Given the description of an element on the screen output the (x, y) to click on. 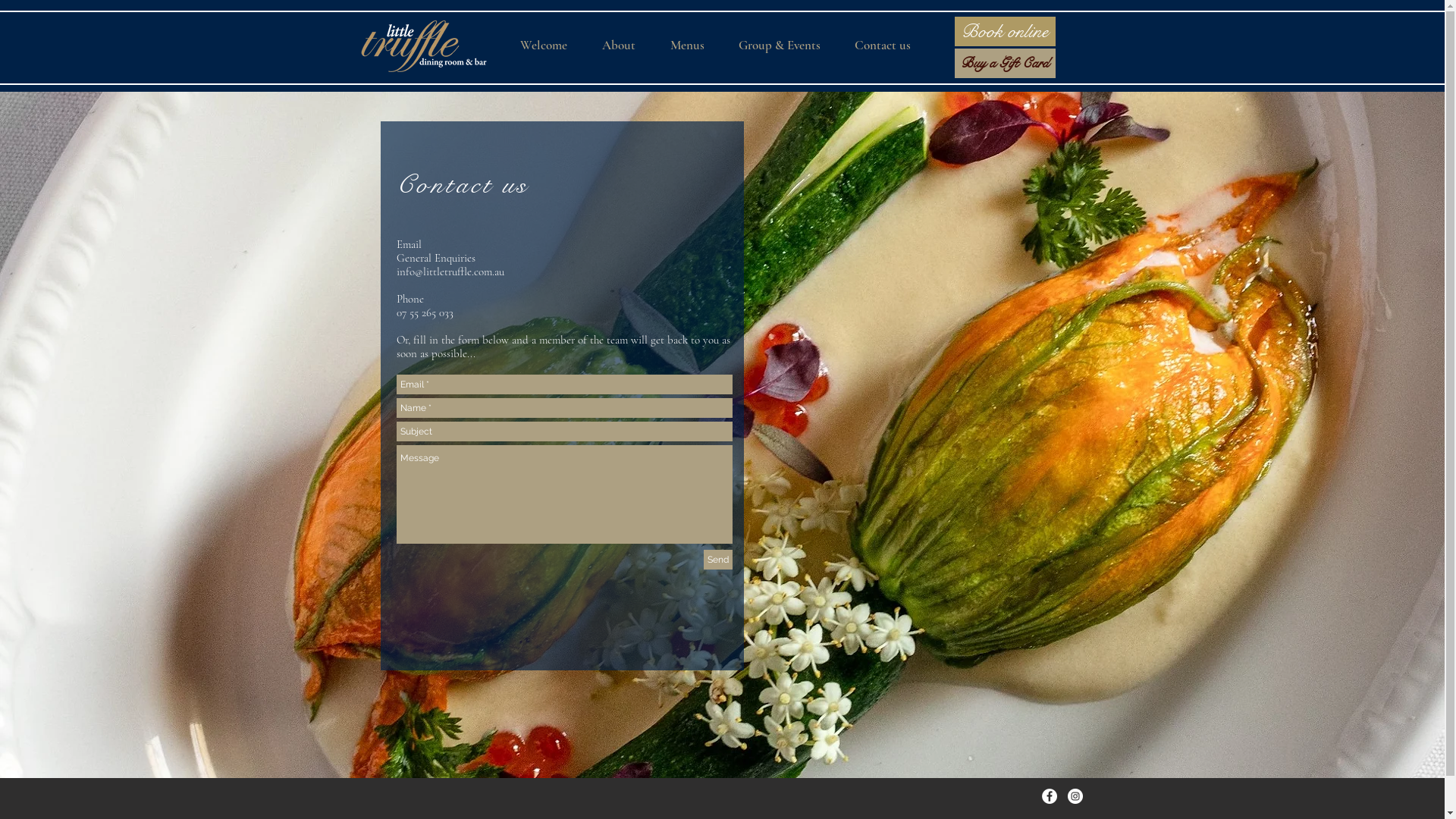
Book online Element type: text (1003, 31)
Menus Element type: text (693, 45)
About Element type: text (625, 45)
Send Element type: text (717, 559)
Welcome Element type: text (550, 45)
Contact us Element type: text (461, 184)
Group & Events Element type: text (786, 45)
Contact us Element type: text (889, 45)
info@littletruffle.com.au Element type: text (449, 271)
Buy a Gift Card Element type: text (1003, 63)
